Given the description of an element on the screen output the (x, y) to click on. 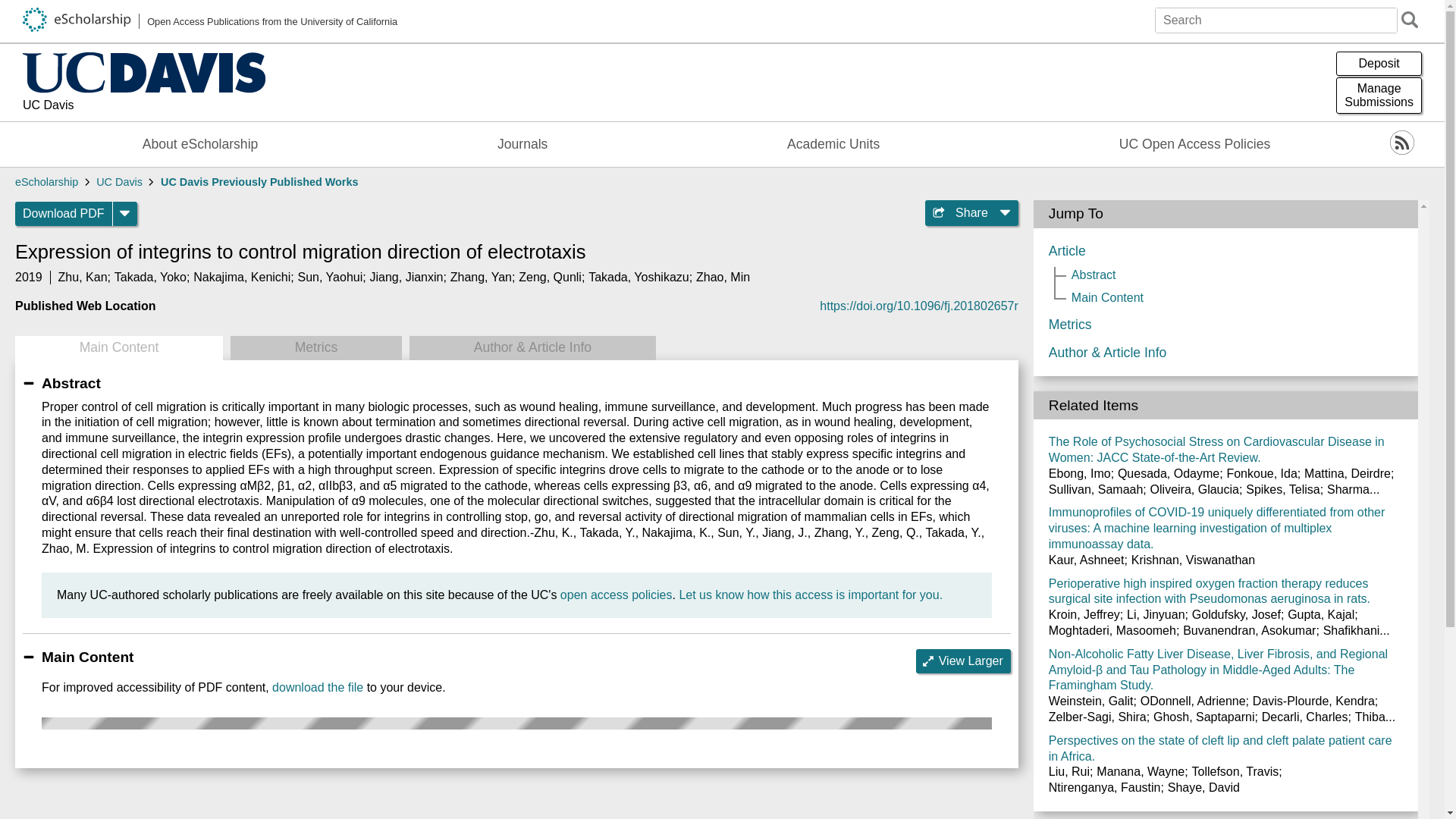
Takada, Yoko (150, 277)
UC Open Access Policies (1195, 143)
Nakajima, Kenichi (241, 277)
UC Davis (119, 182)
Download PDF (63, 213)
open access policies (616, 594)
Academic Units (832, 143)
eScholarship (46, 182)
Metrics (315, 347)
Journals (522, 143)
